Given the description of an element on the screen output the (x, y) to click on. 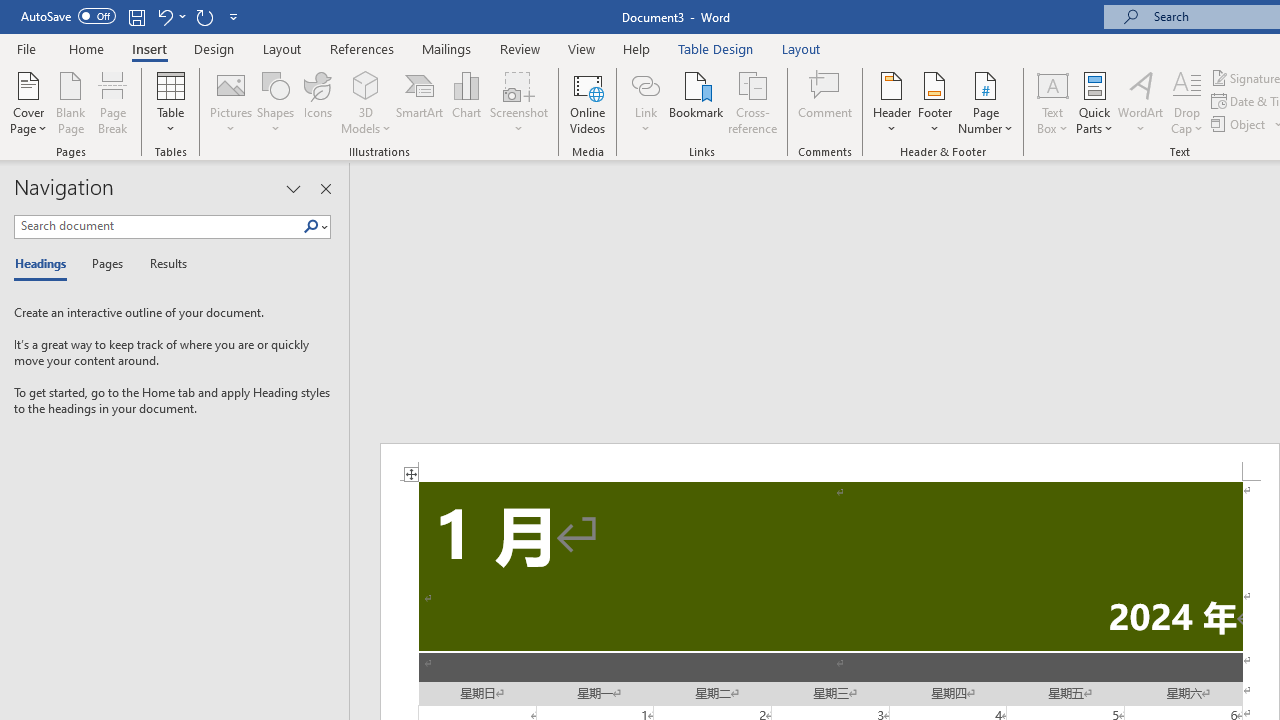
Layout (801, 48)
Quick Access Toolbar (131, 16)
Pictures (230, 102)
Comment (825, 102)
View (582, 48)
Save (136, 15)
Icons (317, 102)
AutoSave (68, 16)
3D Models (366, 84)
WordArt (1141, 102)
Help (637, 48)
Quick Parts (1094, 102)
Home (86, 48)
